Given the description of an element on the screen output the (x, y) to click on. 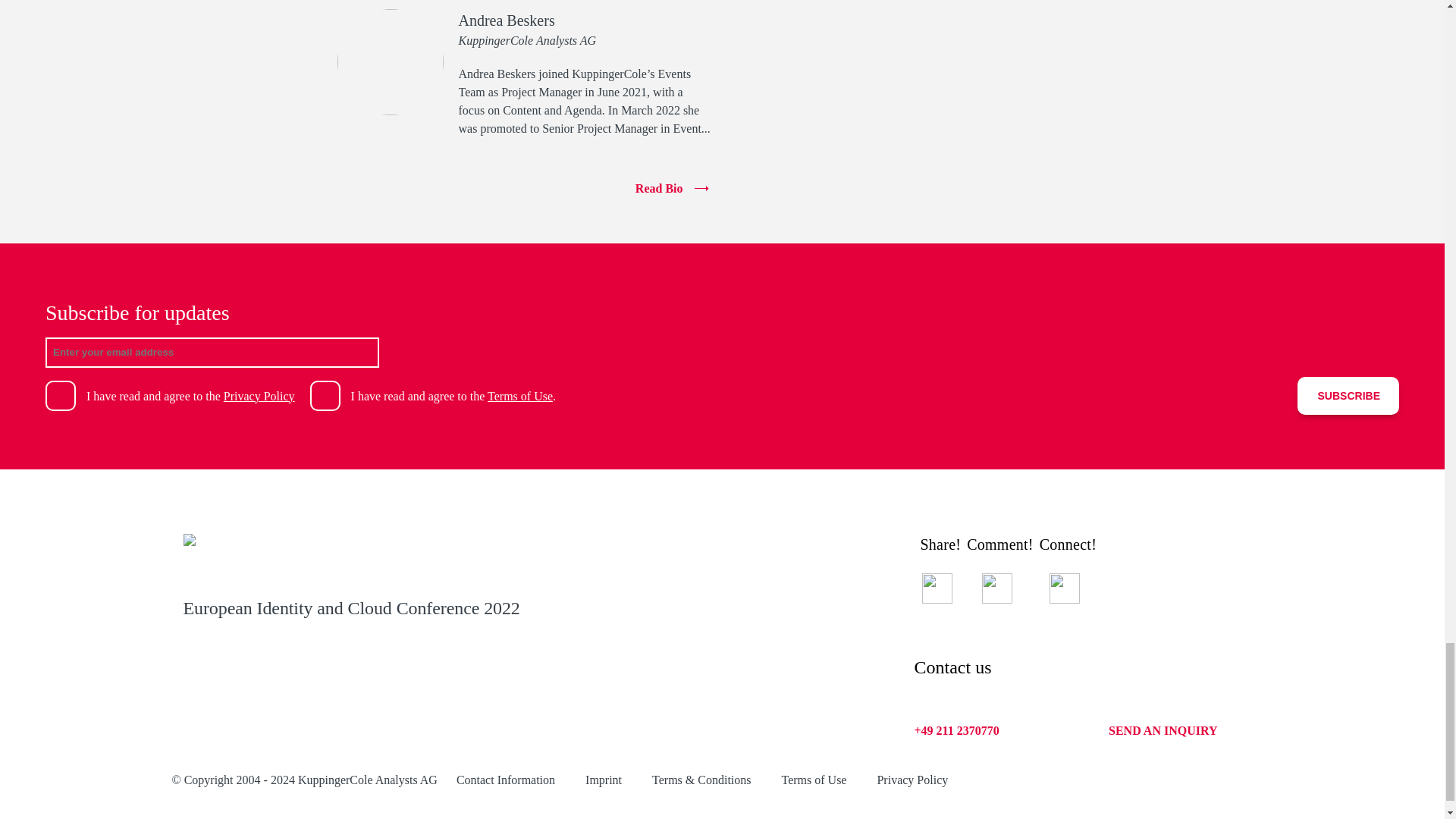
Terms of Use (520, 395)
Terms of Use (812, 779)
Contact Information (505, 779)
Privacy Policy (911, 779)
SEND AN INQUIRY (1162, 730)
Read Bio (523, 188)
SUBSCRIBE (1348, 395)
Privacy Policy (259, 395)
Imprint (603, 779)
